Given the description of an element on the screen output the (x, y) to click on. 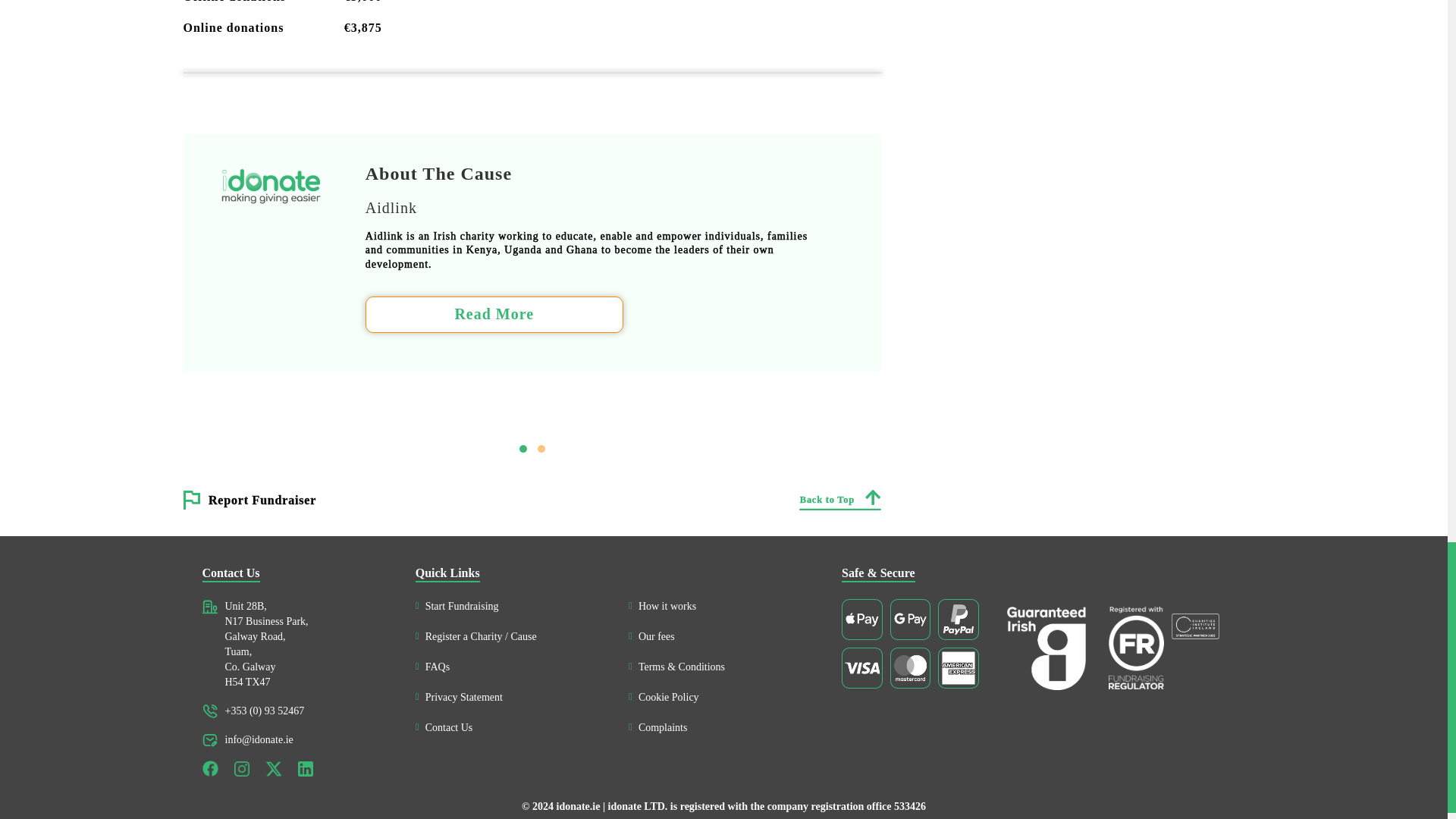
American Express (957, 667)
Guaranteed Irish (1046, 648)
Google Pay (910, 618)
Visa (861, 667)
PayPal (957, 618)
Apple Pay (861, 618)
Mastercard (910, 667)
Report Fundraiser (262, 499)
